Given the description of an element on the screen output the (x, y) to click on. 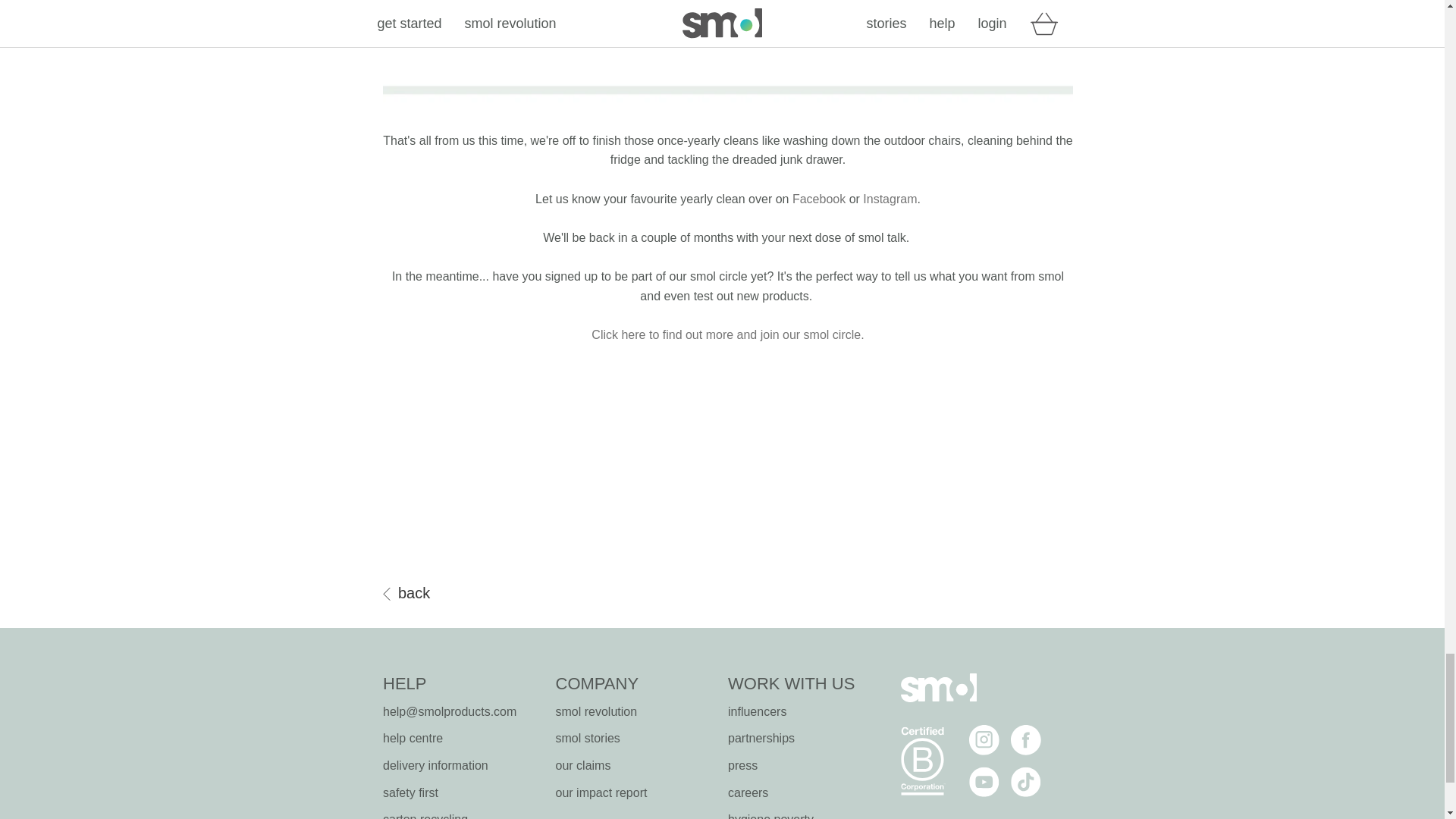
smol instagram (890, 198)
smol facebook (818, 198)
smol circle sign up (727, 334)
